Given the description of an element on the screen output the (x, y) to click on. 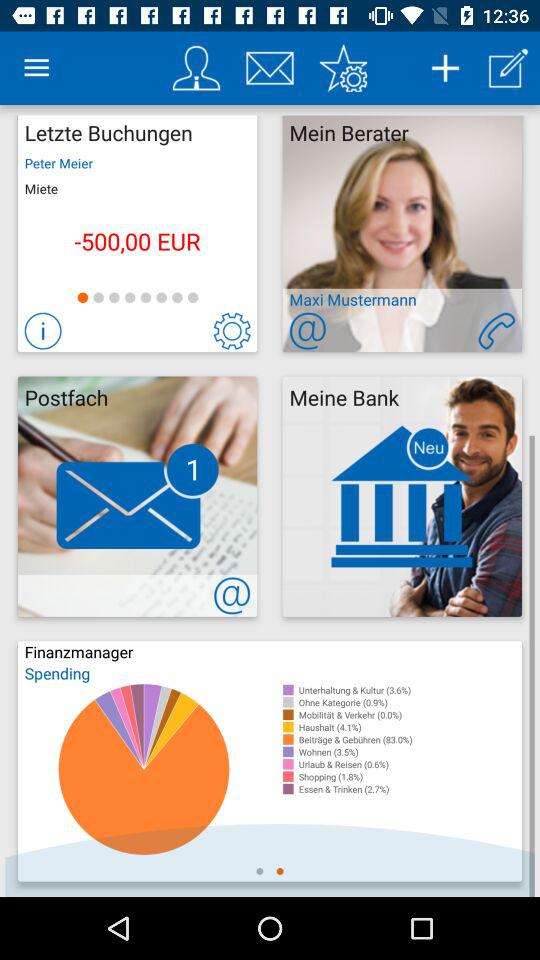
jump to the ohne kategorie 0 icon (409, 702)
